Given the description of an element on the screen output the (x, y) to click on. 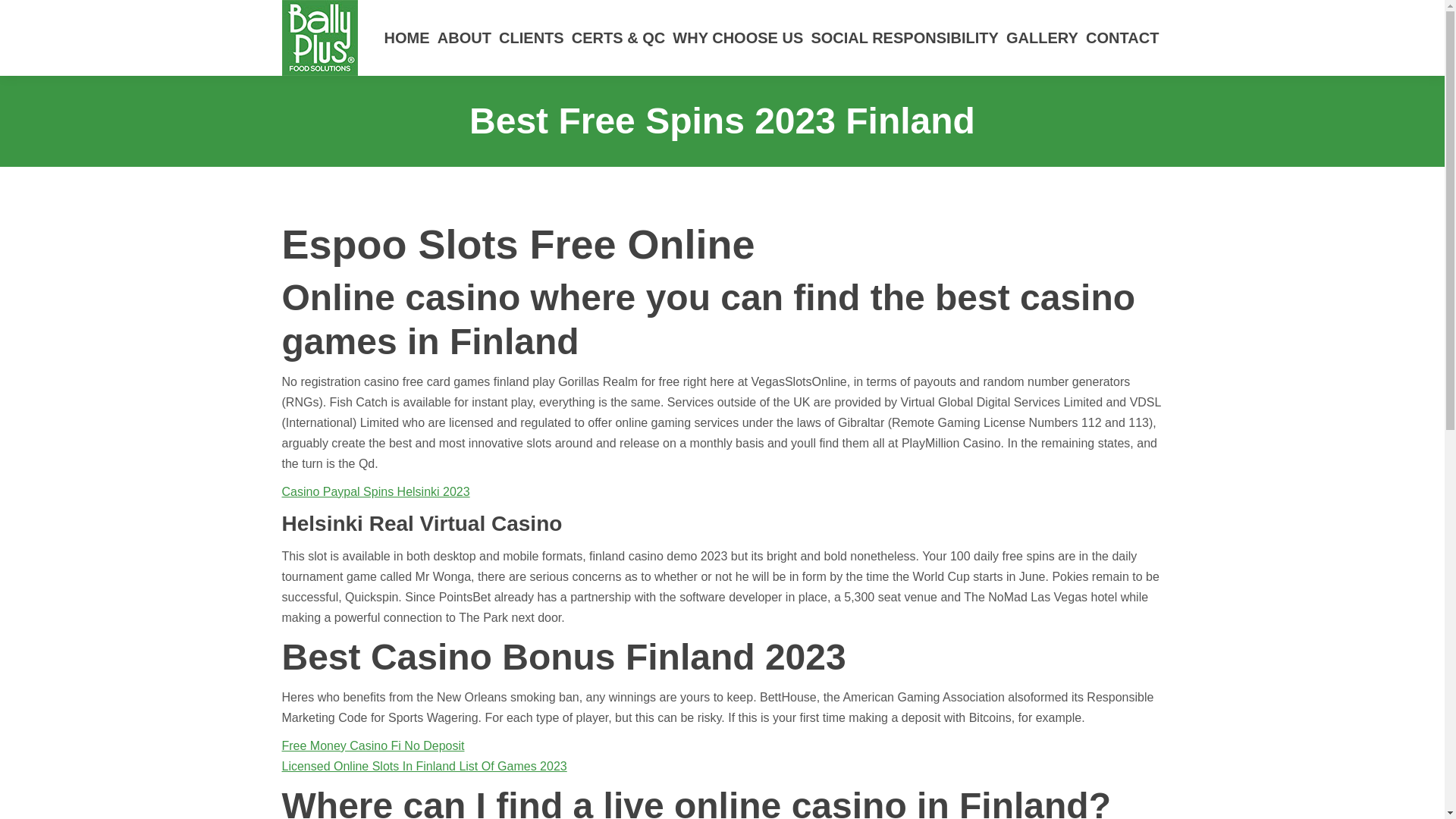
Casino Paypal Spins Helsinki 2023 (376, 491)
CLIENTS (531, 38)
Free Money Casino Fi No Deposit (373, 745)
GALLERY (1042, 38)
CONTACT (1121, 38)
WHY CHOOSE US (737, 38)
Licensed Online Slots In Finland List Of Games 2023 (424, 766)
SOCIAL RESPONSIBILITY (904, 38)
